Given the description of an element on the screen output the (x, y) to click on. 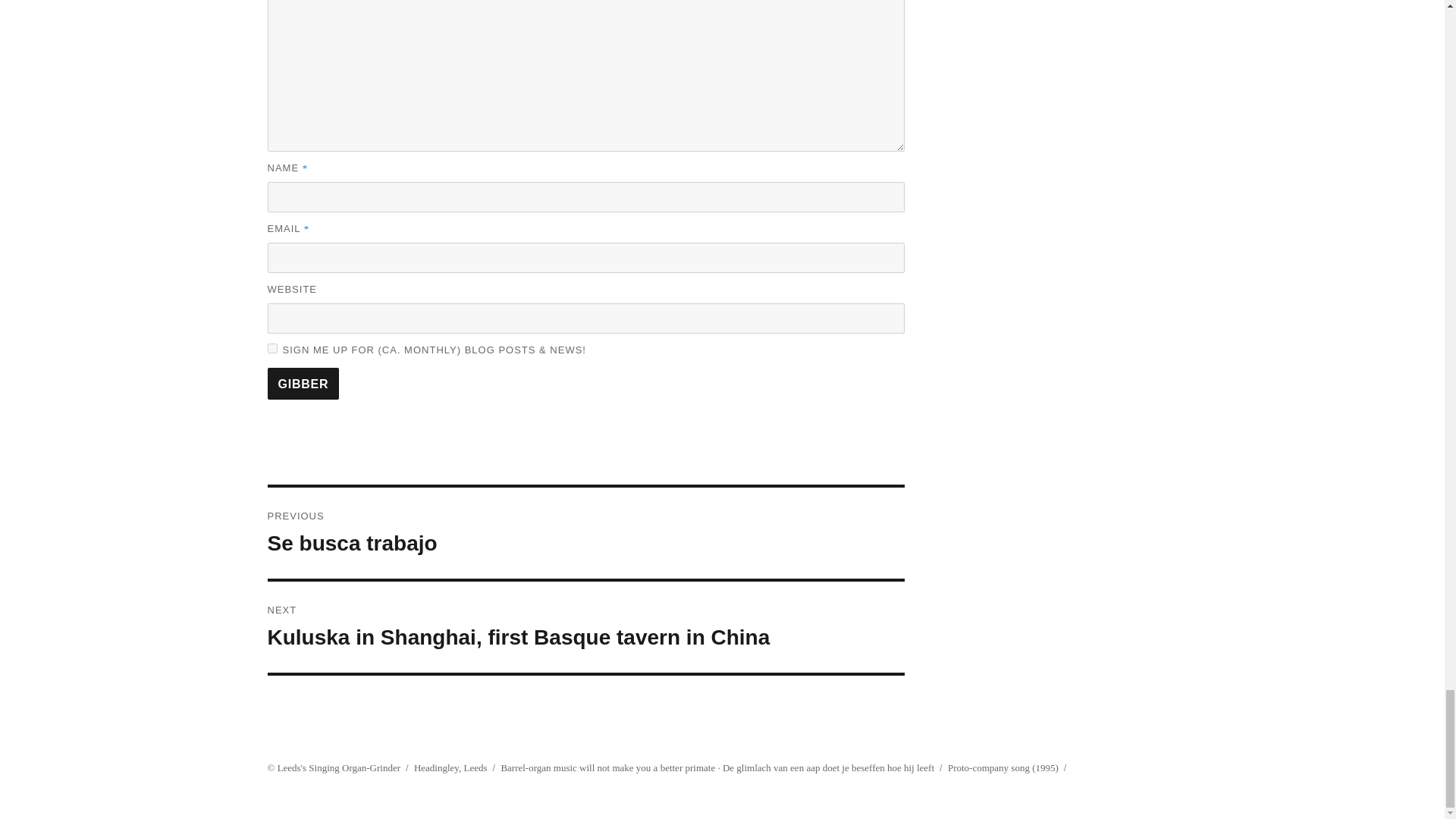
Gibber (302, 383)
1 (271, 347)
